Given the description of an element on the screen output the (x, y) to click on. 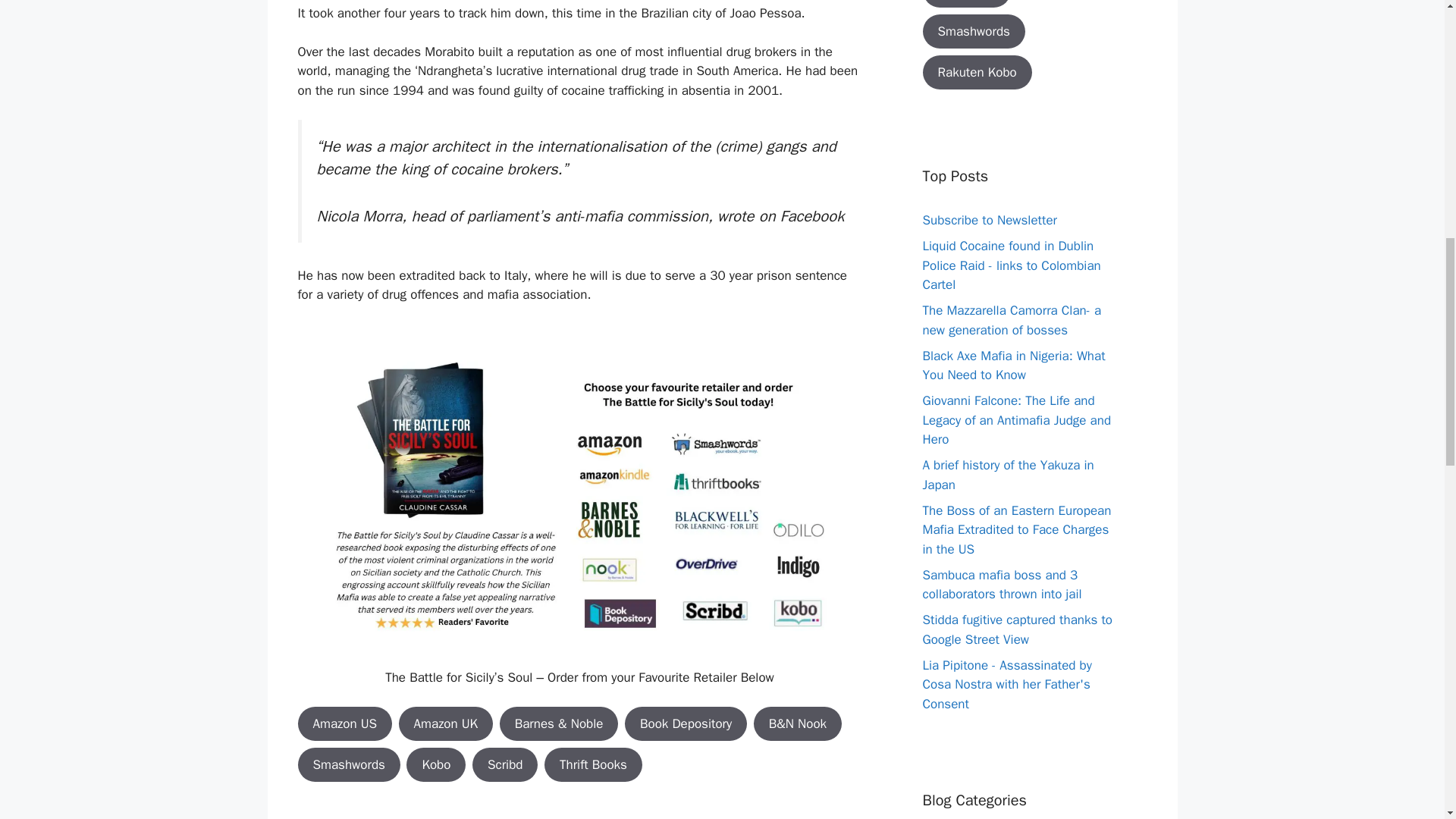
Book Depository (685, 724)
Amazon US (344, 724)
Amazon UK (445, 724)
Kobo (435, 764)
Scroll back to top (1406, 720)
Thrift Books (593, 764)
Scribd (504, 764)
Smashwords (347, 764)
